Given the description of an element on the screen output the (x, y) to click on. 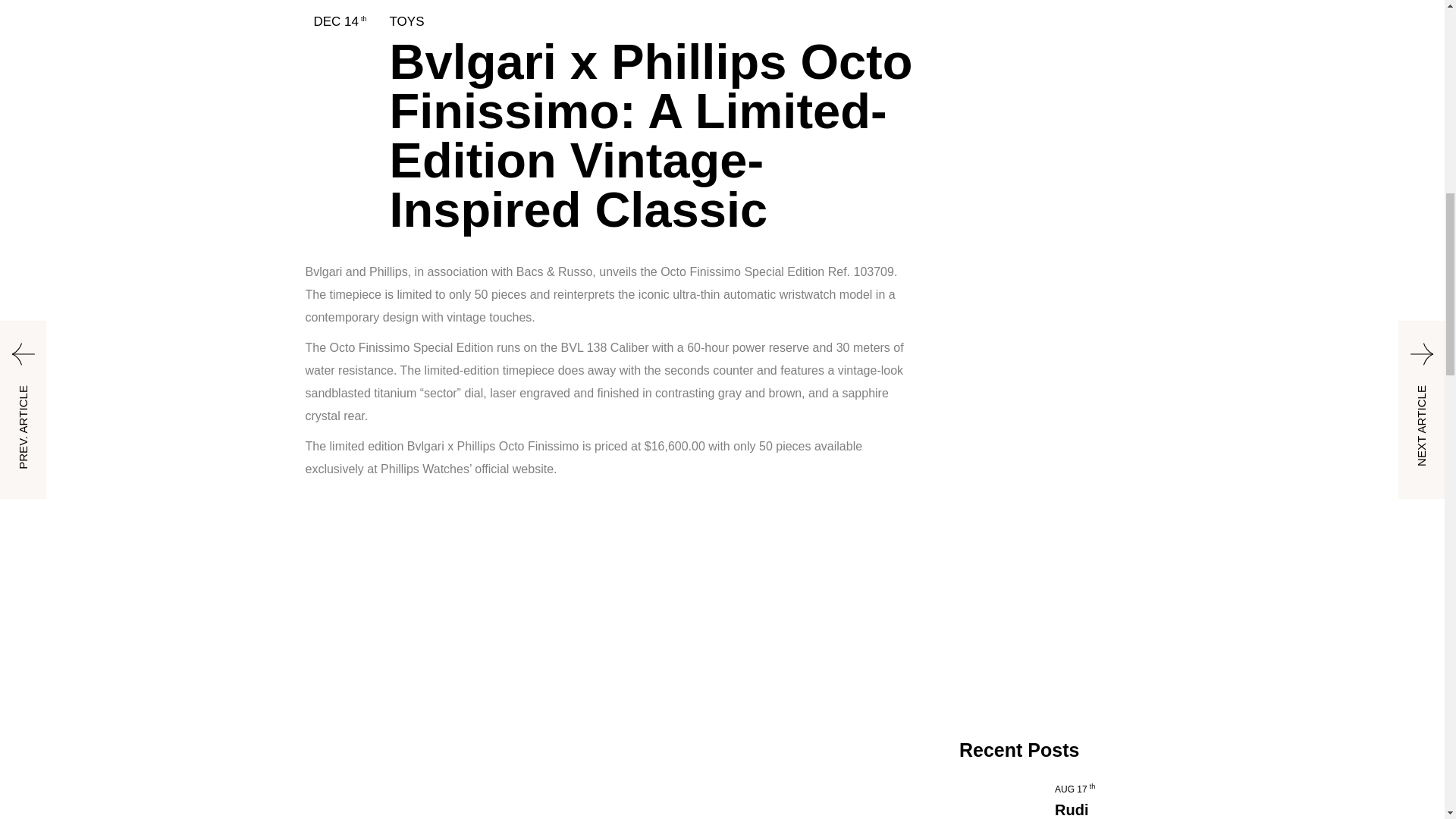
DEC 14th (340, 21)
TOYS (407, 21)
AUG 17th (1074, 788)
